Given the description of an element on the screen output the (x, y) to click on. 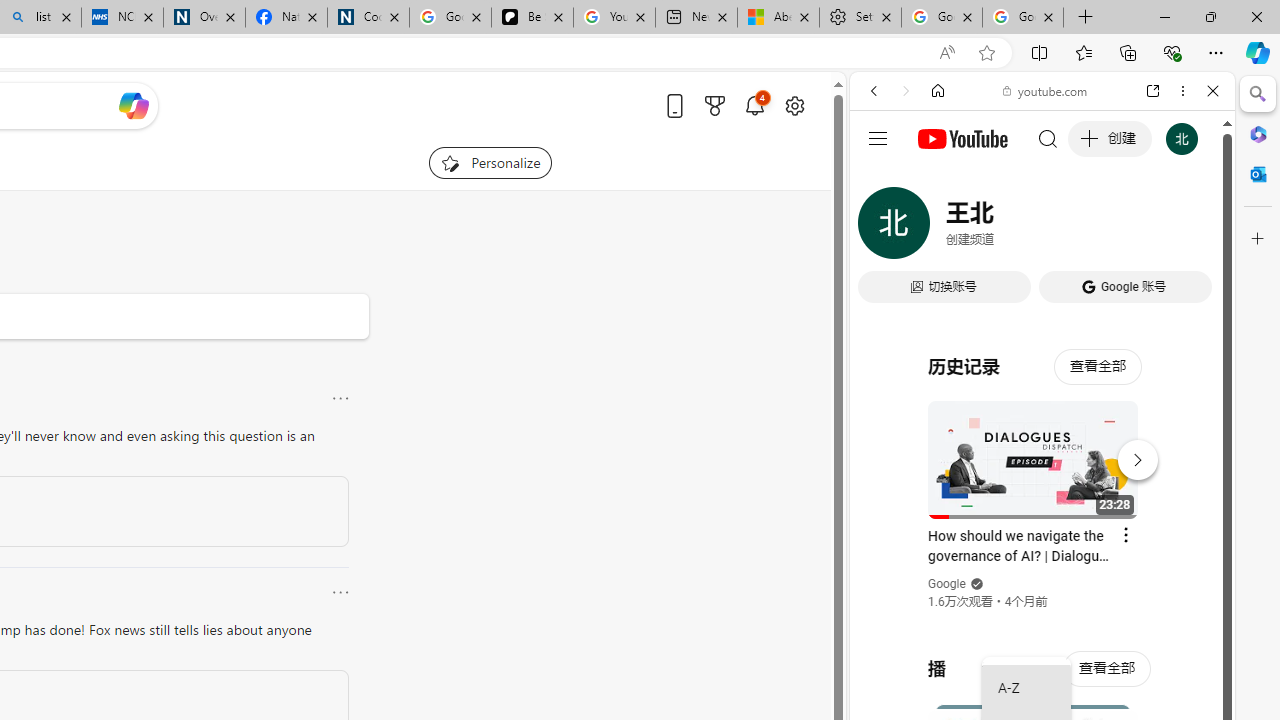
Cookies (368, 17)
A-Z (1026, 688)
